Given the description of an element on the screen output the (x, y) to click on. 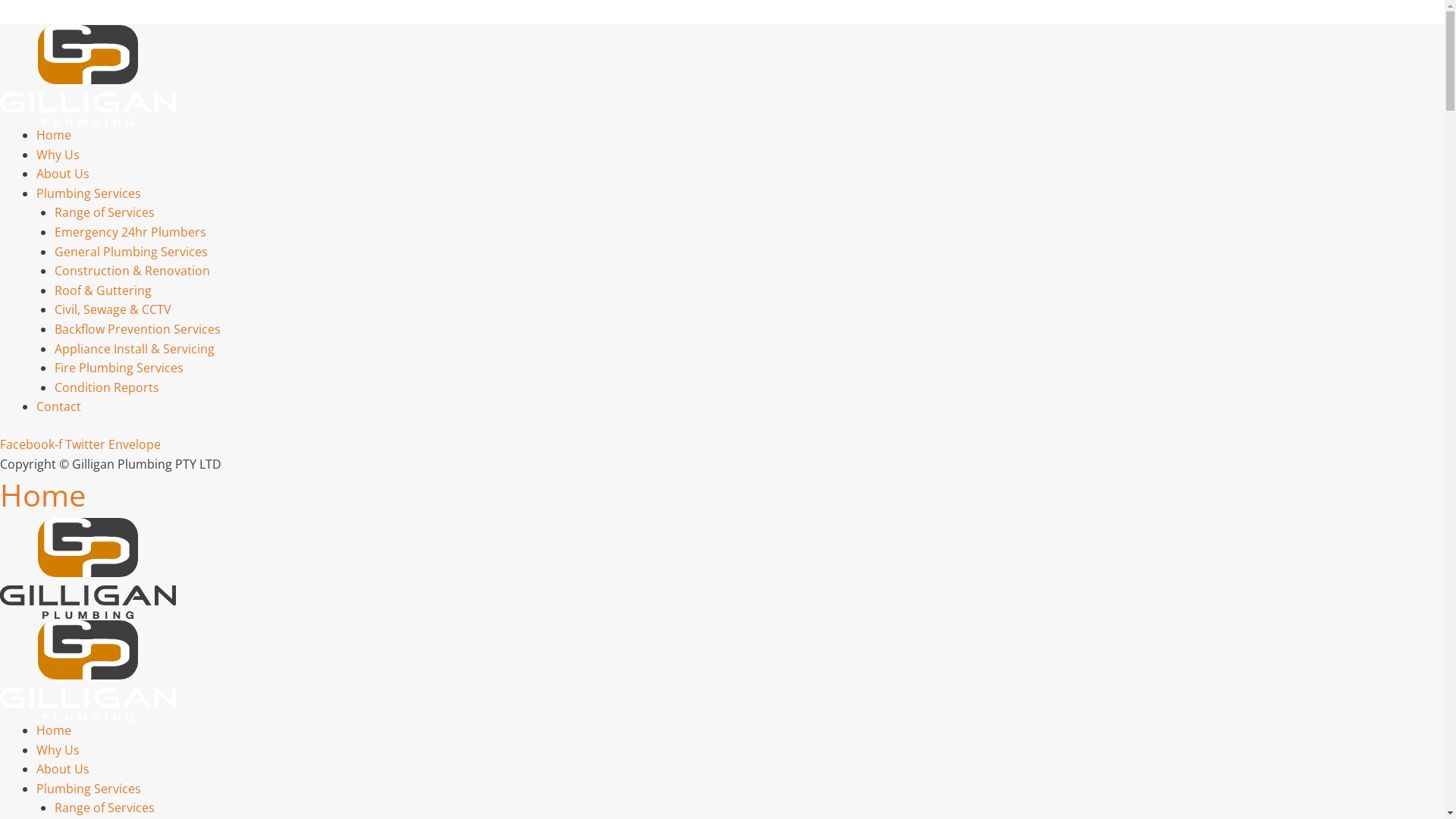
Facebook-f Element type: text (32, 444)
Condition Reports Element type: text (106, 387)
Roof & Guttering Element type: text (102, 290)
About Us Element type: text (62, 768)
General Plumbing Services Element type: text (130, 251)
Why Us Element type: text (57, 749)
Emergency 24hr Plumbers Element type: text (130, 231)
Plumbing Services Element type: text (88, 788)
Home Element type: text (53, 729)
Envelope Element type: text (134, 444)
Backflow Prevention Services Element type: text (137, 328)
Contact Element type: text (58, 406)
Twitter Element type: text (86, 444)
Appliance Install & Servicing Element type: text (134, 348)
About Us Element type: text (62, 173)
Fire Plumbing Services Element type: text (118, 367)
Construction & Renovation Element type: text (132, 270)
Civil, Sewage & CCTV Element type: text (112, 309)
Range of Services Element type: text (104, 807)
Range of Services Element type: text (104, 211)
Plumbing Services Element type: text (88, 193)
Why Us Element type: text (57, 154)
Home Element type: text (53, 134)
